Given the description of an element on the screen output the (x, y) to click on. 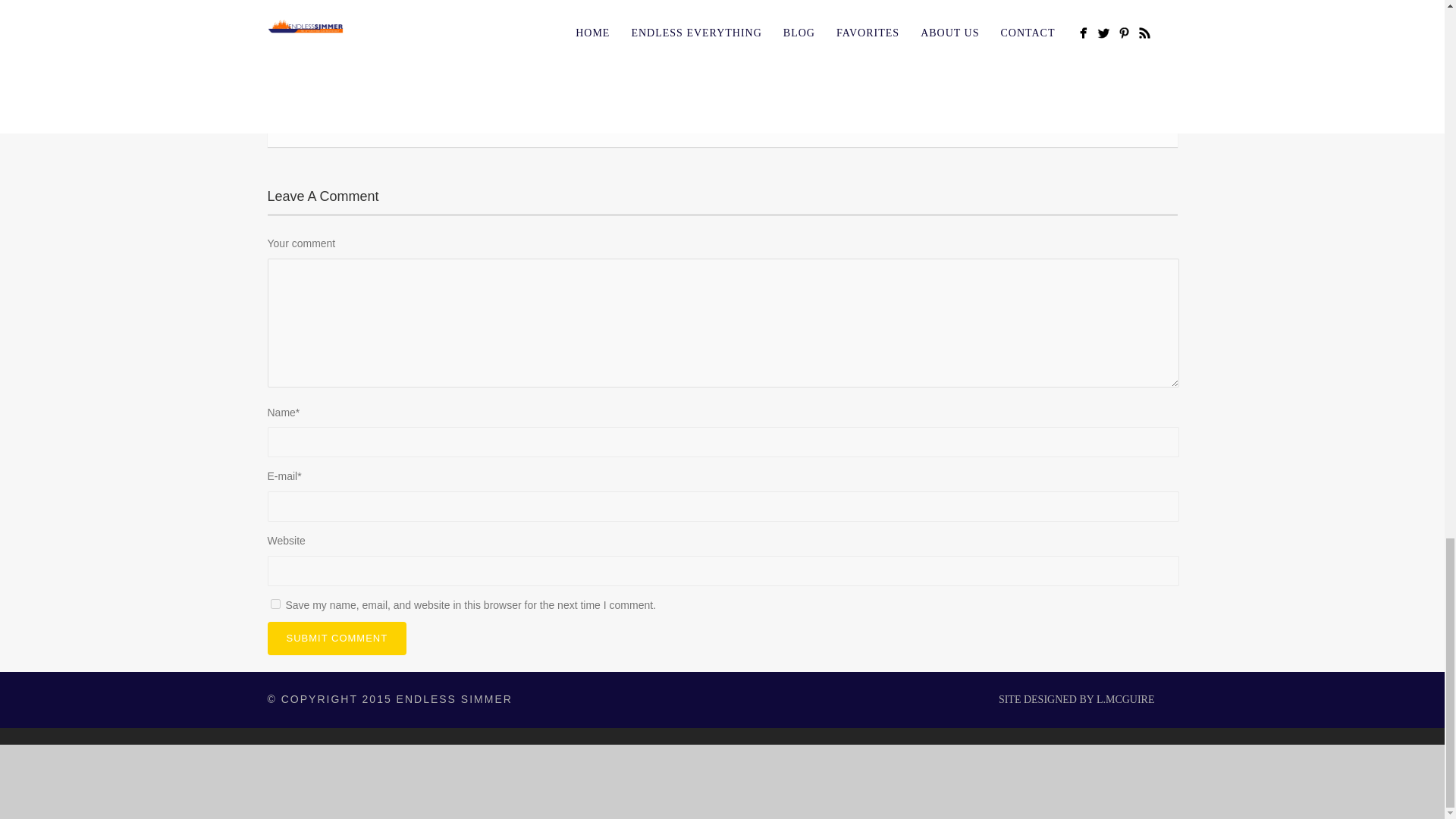
Submit comment (336, 638)
yes (274, 603)
